Given the description of an element on the screen output the (x, y) to click on. 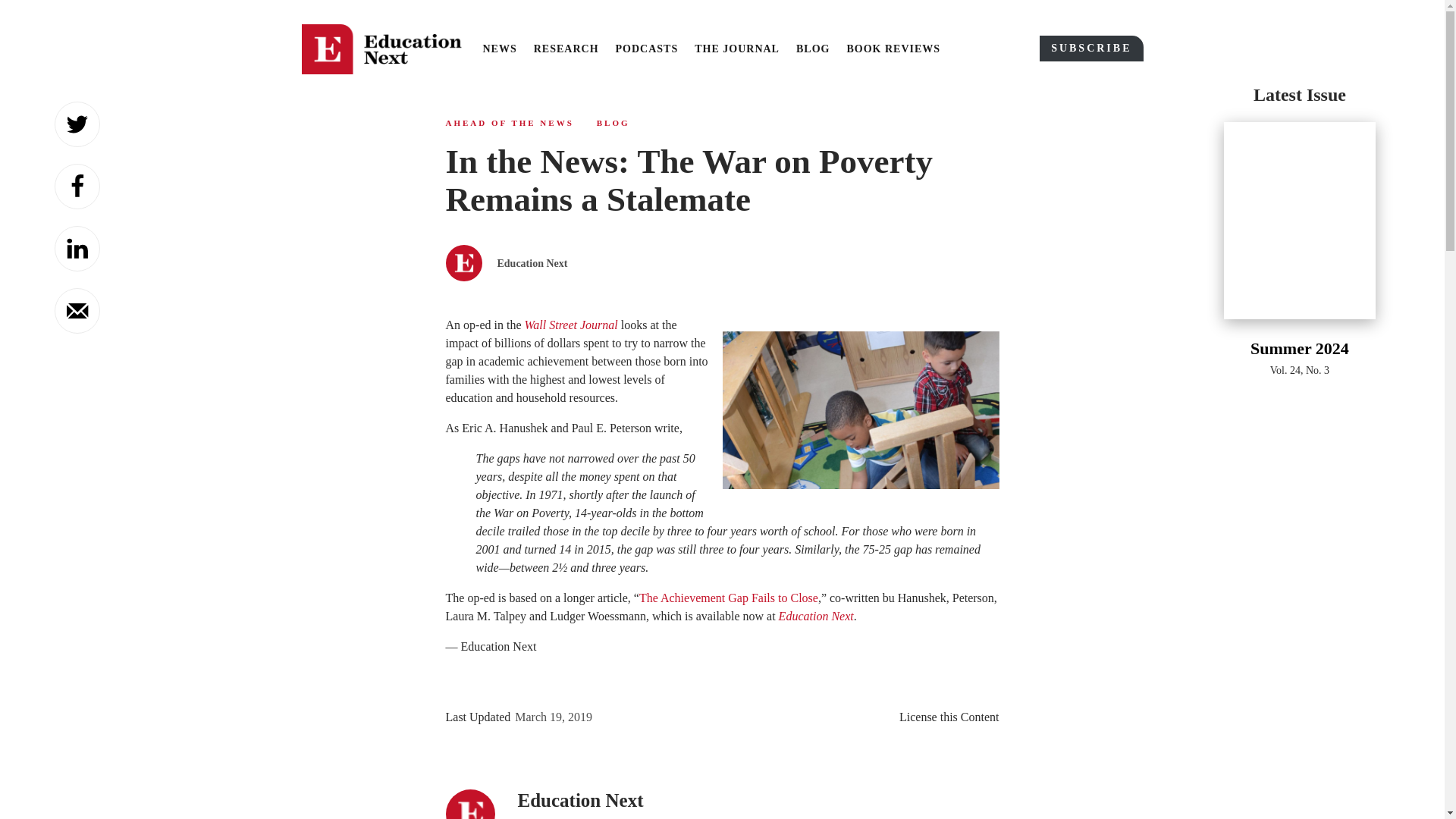
Send over email (77, 310)
SUBSCRIBE (1090, 48)
License this Content (948, 717)
Share on LinkedIn (77, 248)
THE JOURNAL (736, 49)
Share on Twitter (77, 124)
Education Next (815, 615)
BOOK REVIEWS (892, 49)
RESEARCH (566, 49)
The Achievement Gap Fails to Close (728, 597)
